Given the description of an element on the screen output the (x, y) to click on. 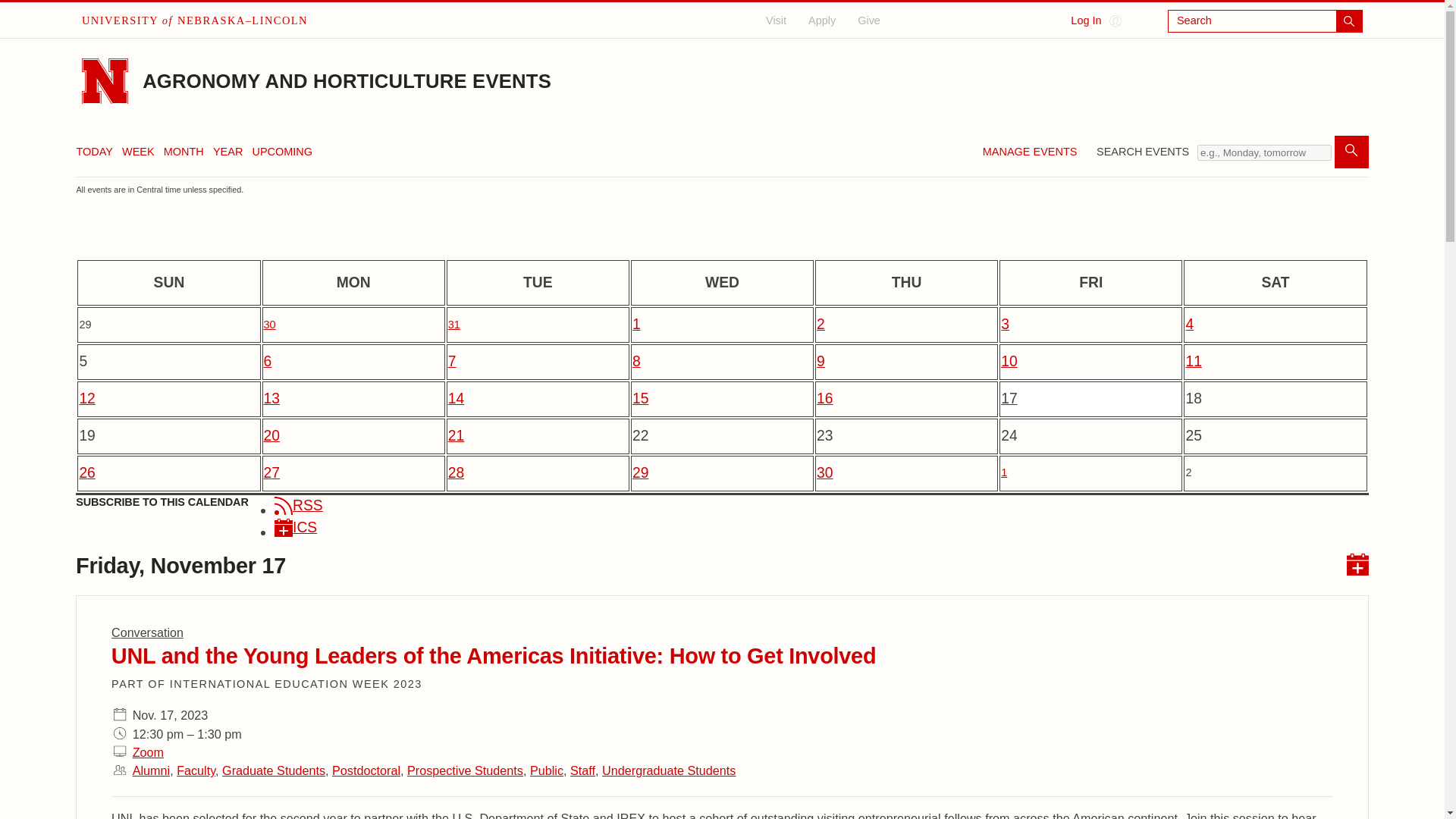
Saturday (1275, 282)
MANAGE EVENTS (1029, 156)
YEAR (227, 151)
NOVEMBER (698, 239)
Skip to main content (13, 10)
Wednesday (721, 282)
4 (1275, 324)
Search (1264, 21)
9 (906, 361)
